Given the description of an element on the screen output the (x, y) to click on. 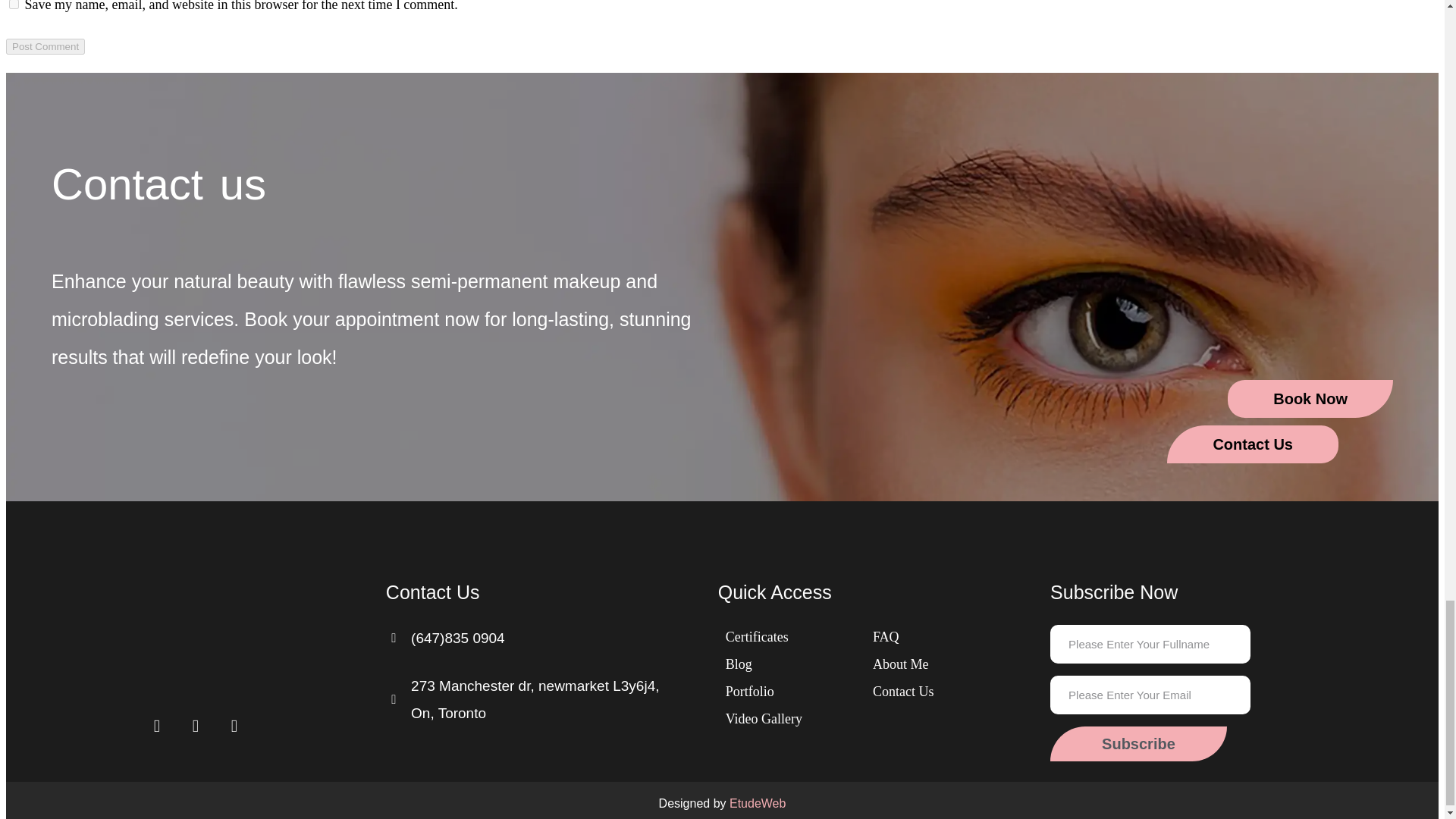
Post Comment (44, 46)
yes (13, 4)
